Given the description of an element on the screen output the (x, y) to click on. 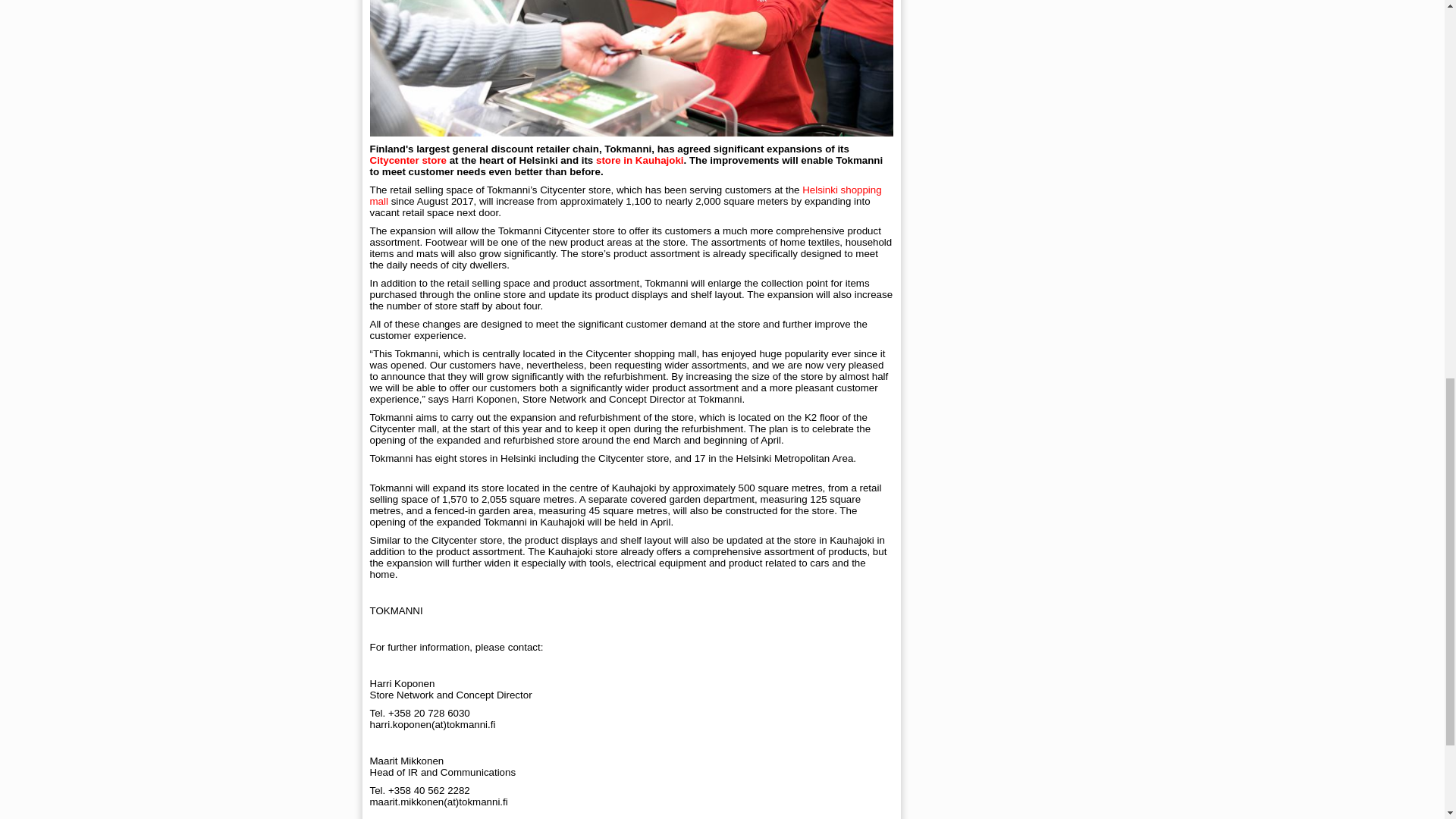
Citycenter store (407, 160)
Helsinki shopping mall (625, 195)
store in Kauhajoki (639, 160)
